Given the description of an element on the screen output the (x, y) to click on. 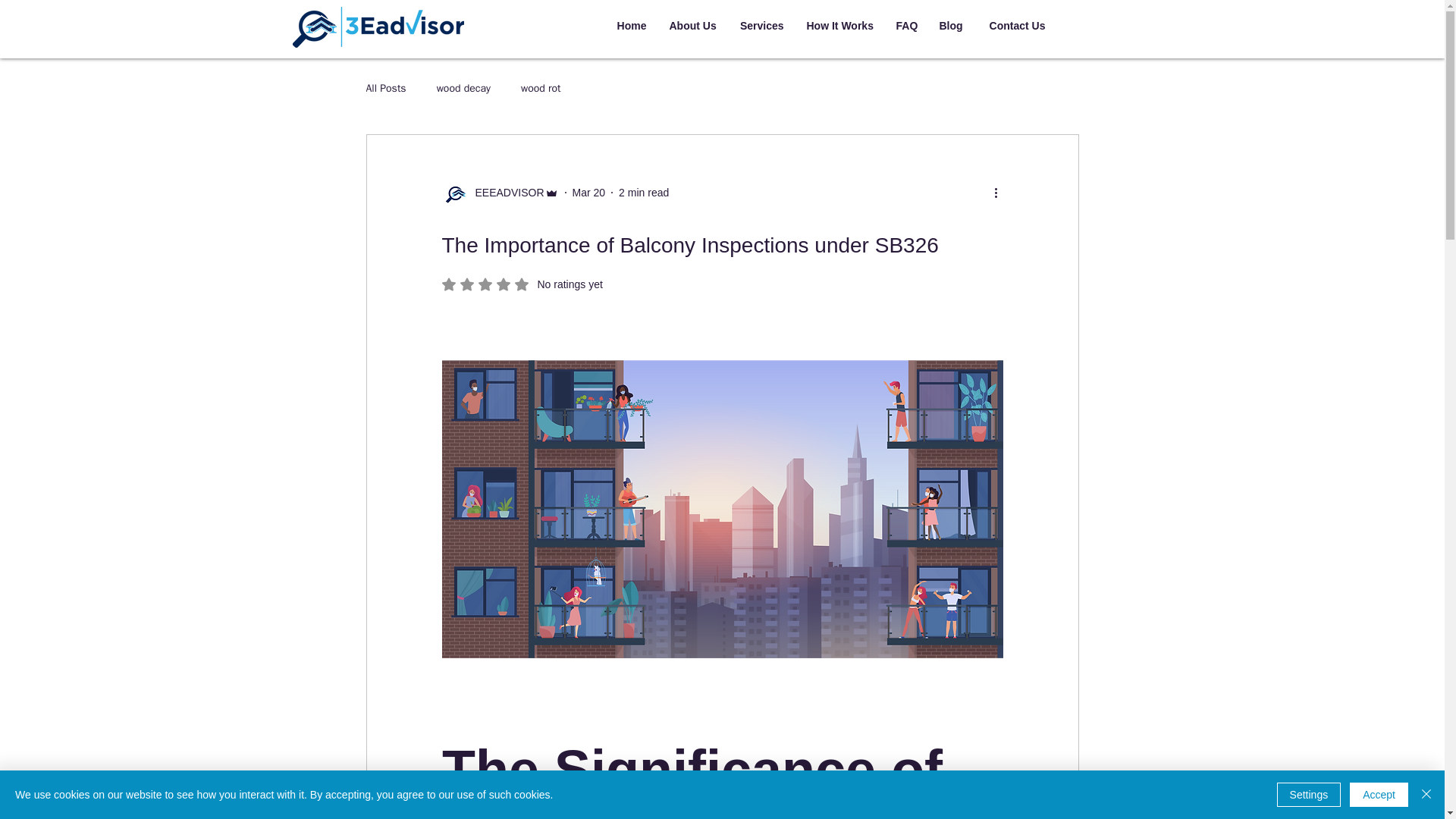
About Us (521, 284)
EEEADVISOR (693, 25)
Blog (499, 192)
EEEADVISOR  (951, 25)
All Posts (504, 192)
2 min read (385, 88)
wood decay (643, 192)
FAQ (463, 88)
wood rot (905, 25)
How It Works (540, 88)
Mar 20 (838, 25)
Services (588, 192)
Home (761, 25)
Contact Us (631, 25)
